Given the description of an element on the screen output the (x, y) to click on. 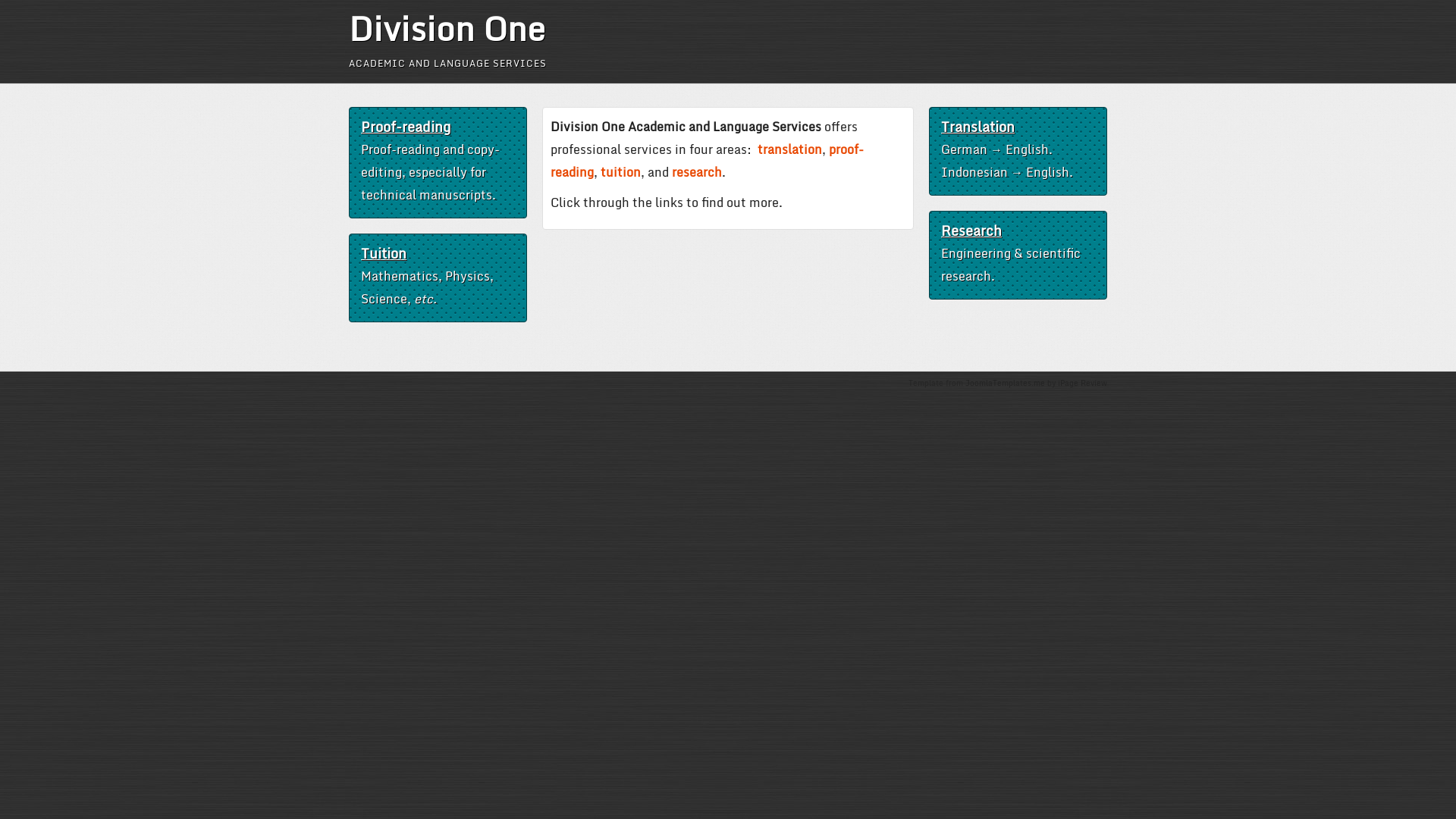
Division One Element type: text (446, 27)
Research Element type: text (971, 230)
proof-reading Element type: text (706, 160)
Translation Element type: text (977, 126)
JoomlaTemplates.me Element type: text (1004, 382)
Tuition Element type: text (383, 252)
research Element type: text (696, 172)
iPage Review Element type: text (1082, 382)
translation Element type: text (789, 149)
tuition Element type: text (620, 172)
Proof-reading Element type: text (405, 126)
